Given the description of an element on the screen output the (x, y) to click on. 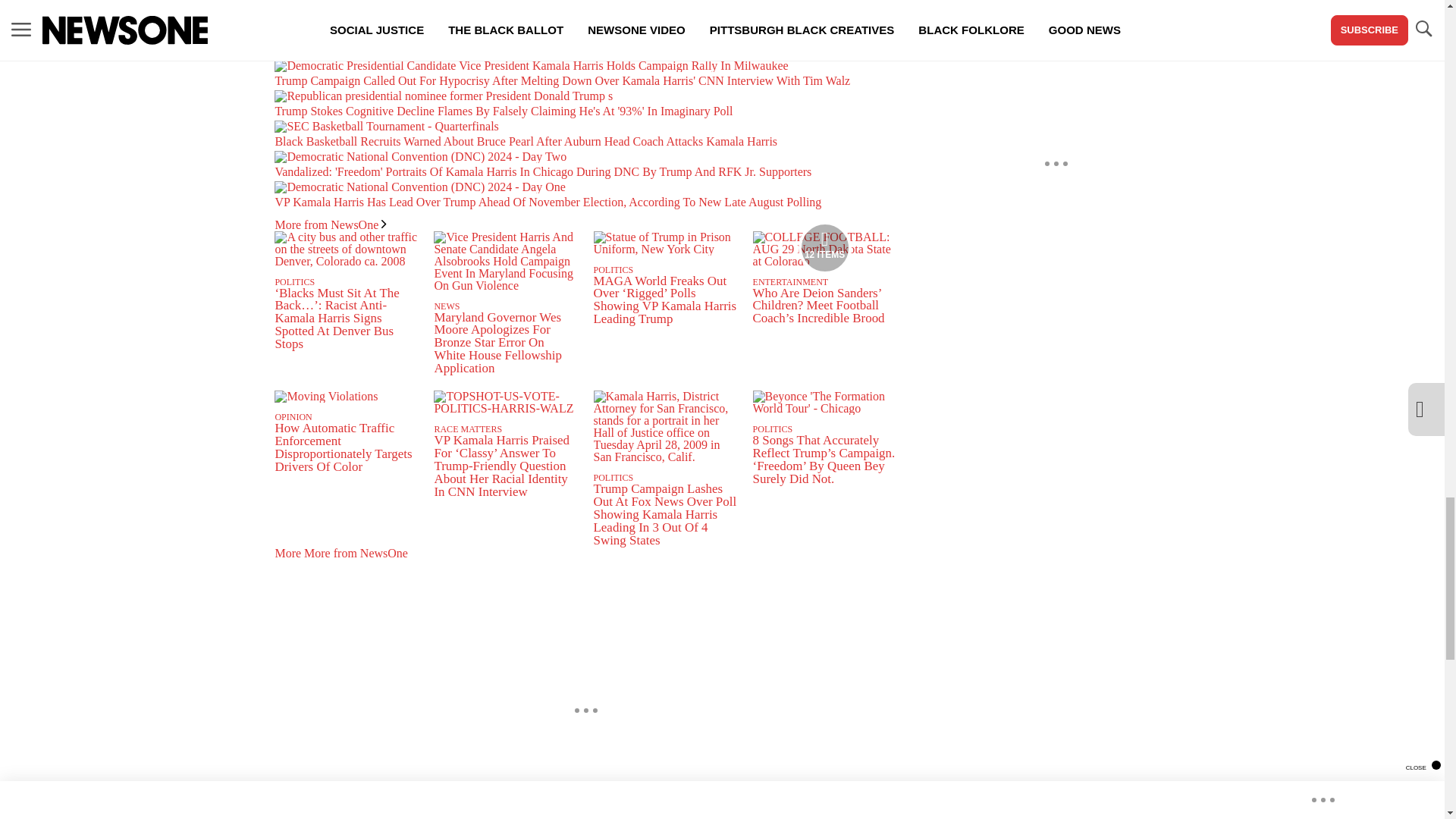
Media Playlist (824, 247)
More from NewsOne (330, 224)
